Given the description of an element on the screen output the (x, y) to click on. 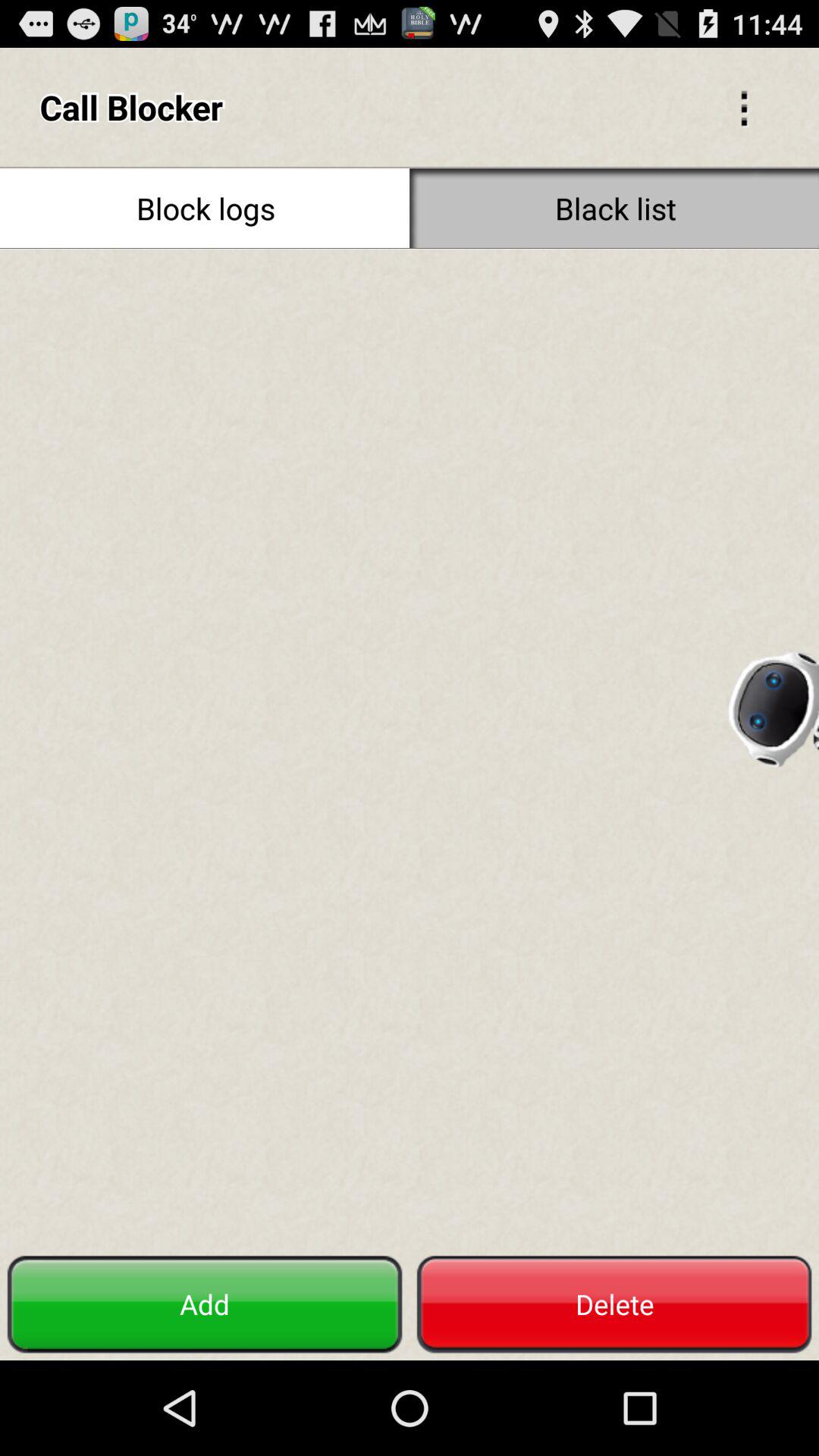
flip until the delete icon (613, 1304)
